Given the description of an element on the screen output the (x, y) to click on. 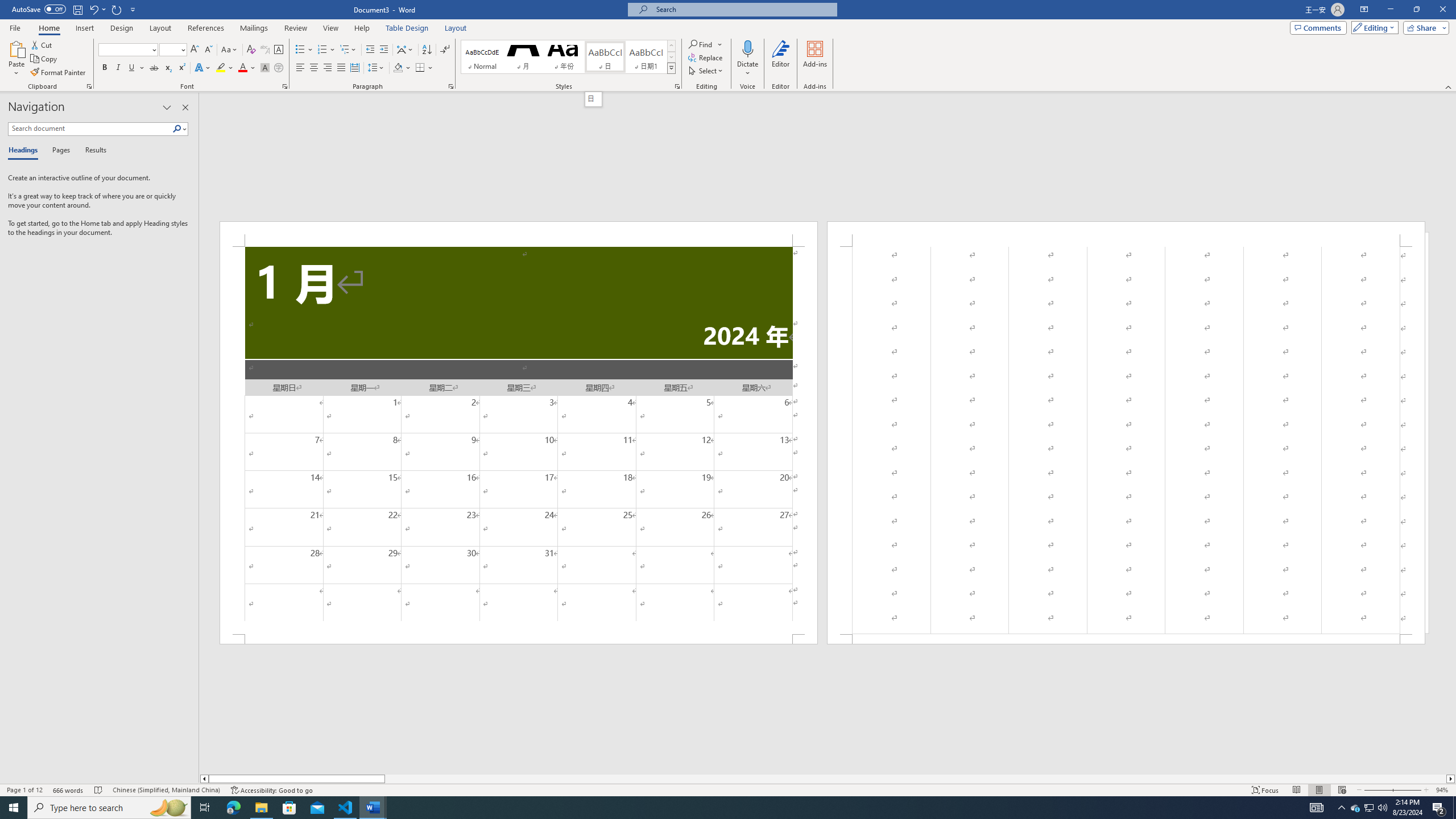
Close pane (185, 107)
Underline (136, 67)
Language Chinese (Simplified, Mainland China) (165, 790)
Line and Paragraph Spacing (376, 67)
Center (313, 67)
Clear Formatting (250, 49)
Font Color RGB(255, 0, 0) (241, 67)
Design (122, 28)
Dictate (747, 58)
Align Left (300, 67)
Customize Quick Access Toolbar (133, 9)
View (330, 28)
Superscript (180, 67)
